Given the description of an element on the screen output the (x, y) to click on. 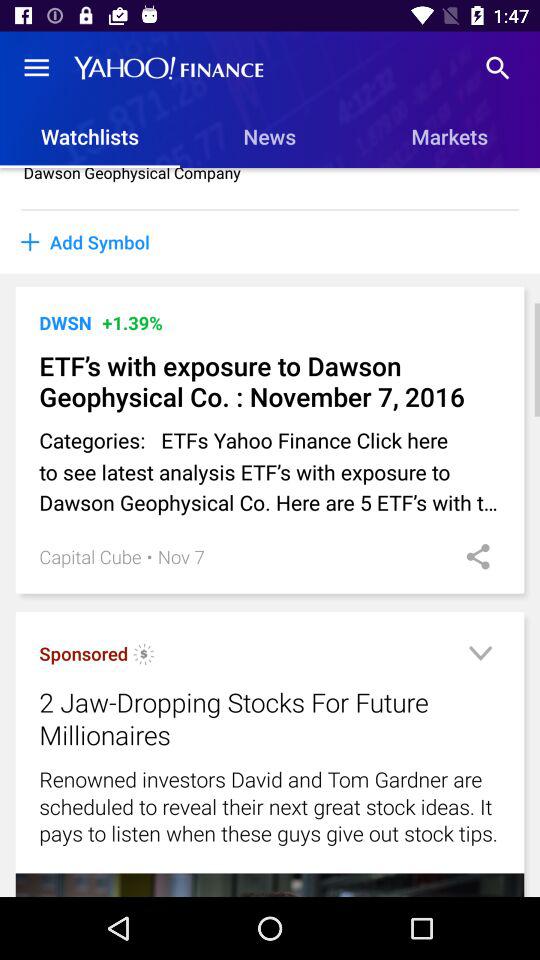
more details about sponsored post (480, 656)
